Given the description of an element on the screen output the (x, y) to click on. 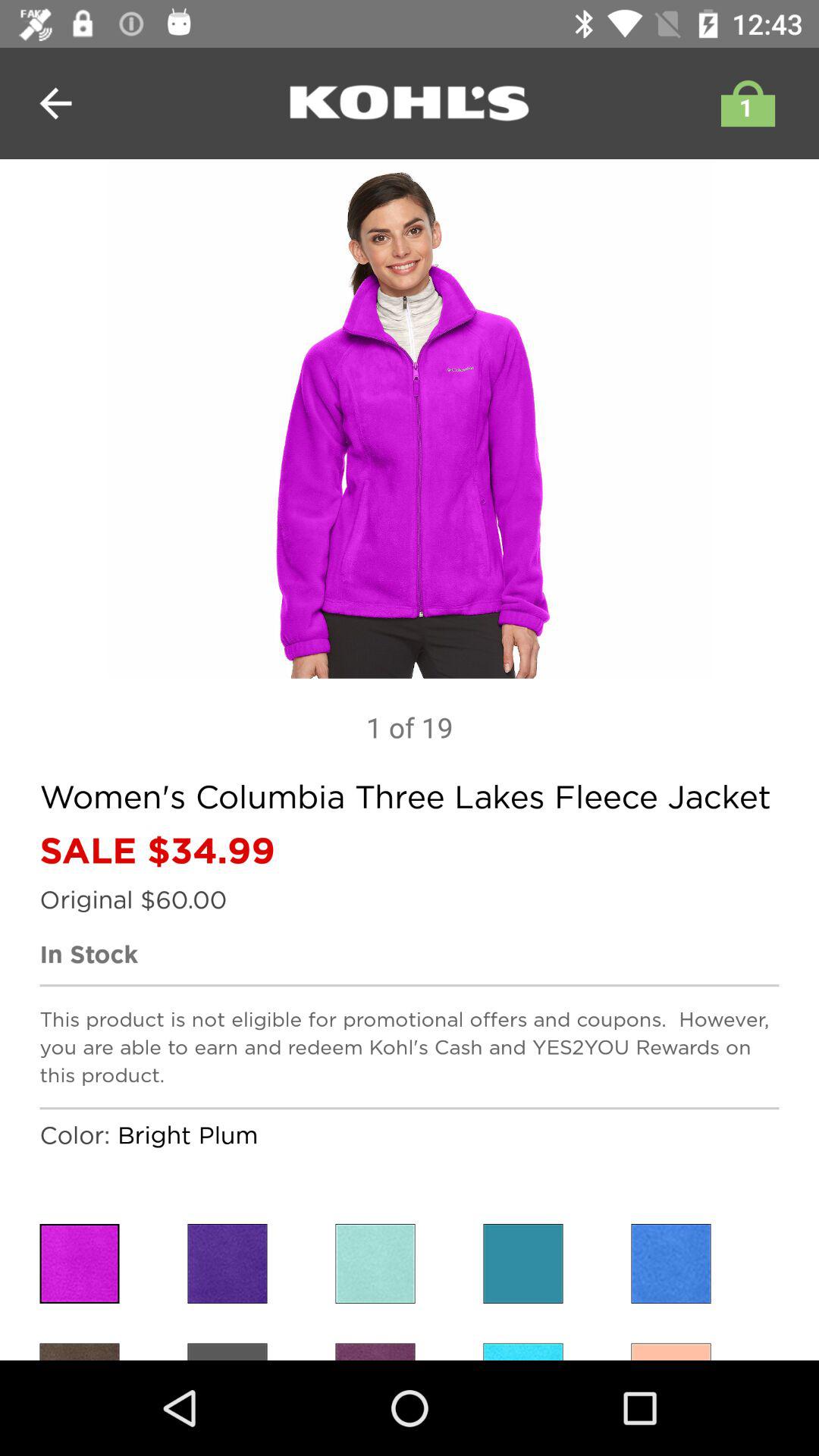
press app above 1 of 19 item (409, 418)
